Given the description of an element on the screen output the (x, y) to click on. 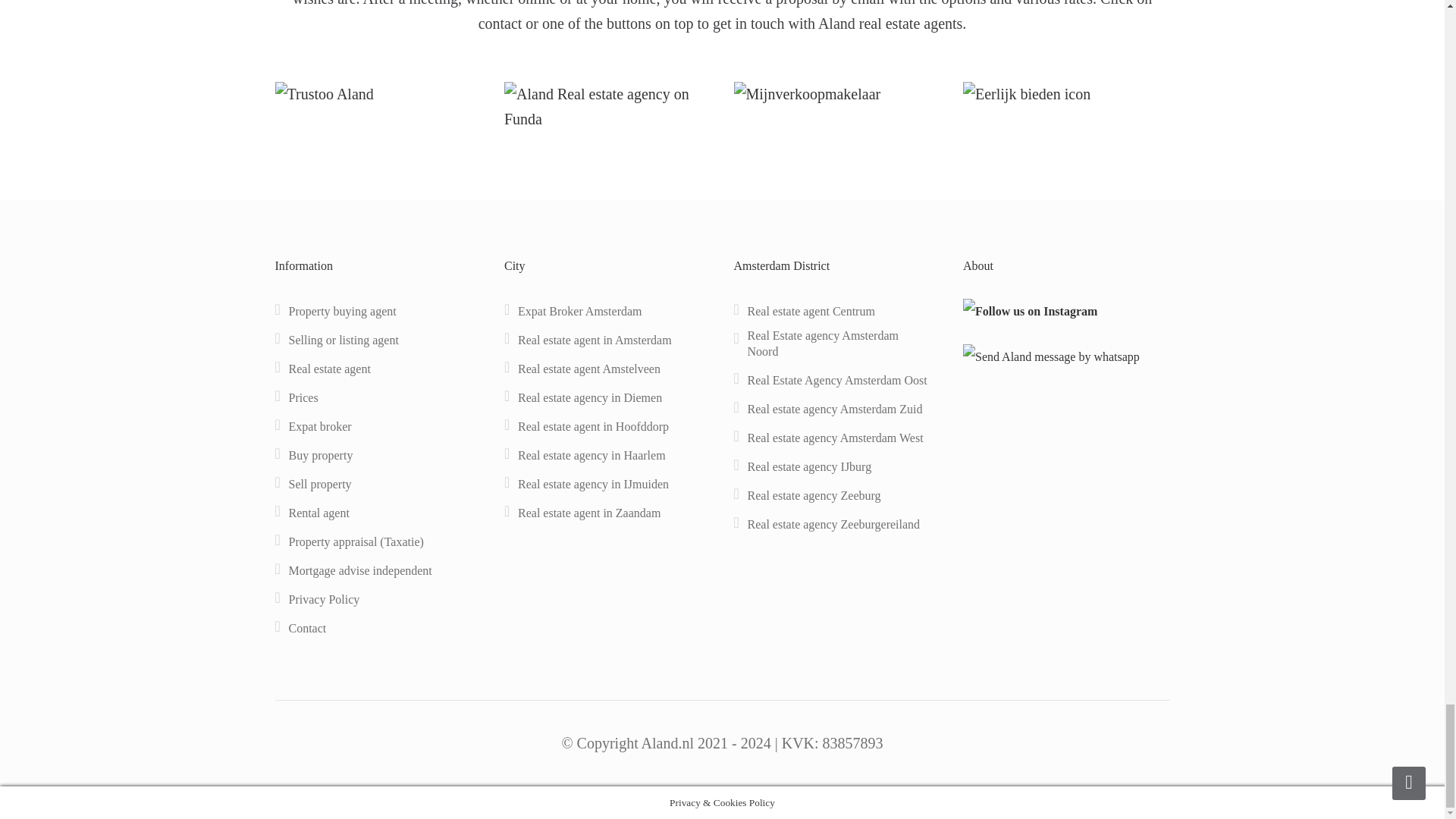
trustoo-icon (323, 94)
Aland-Real-estate-agency-funda-icon (607, 106)
